Given the description of an element on the screen output the (x, y) to click on. 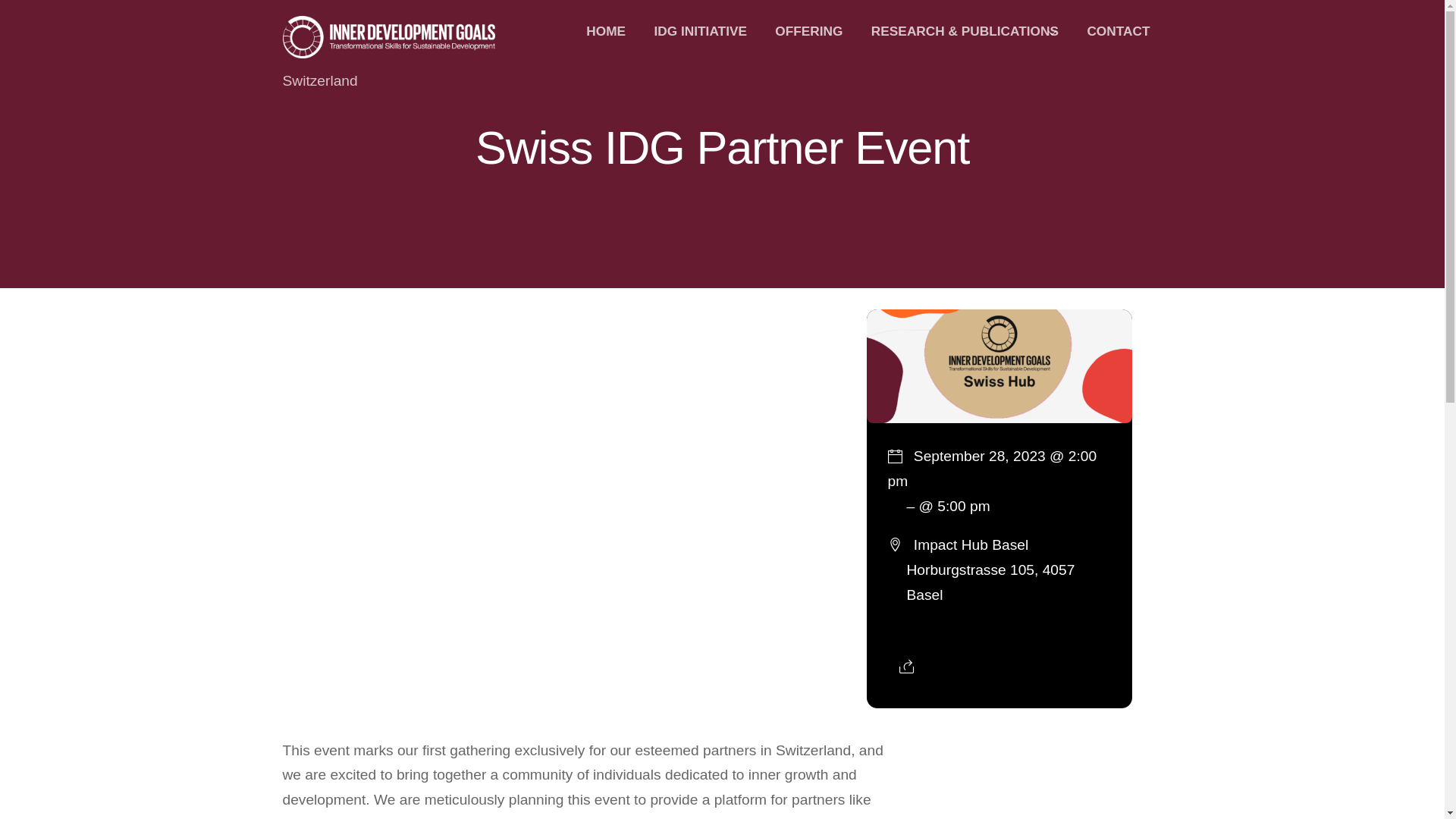
IDG INITIATIVE (700, 31)
OFFERING (808, 31)
swiss-cross-sector-idg-partners-gathering (998, 366)
HOME (605, 31)
Inner Development Goals (388, 47)
CONTACT (1117, 31)
